Given the description of an element on the screen output the (x, y) to click on. 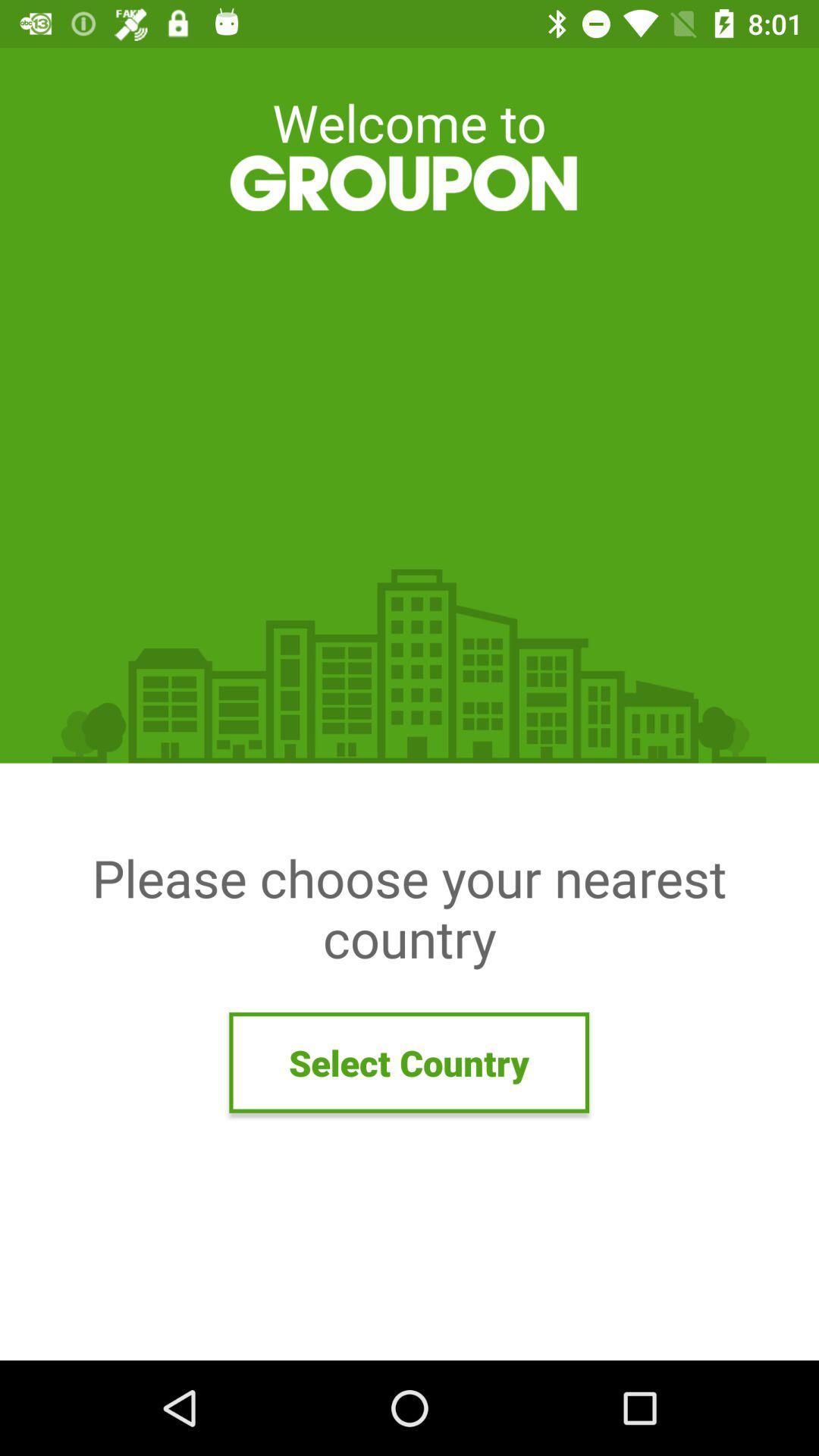
flip until the select country item (409, 1062)
